Given the description of an element on the screen output the (x, y) to click on. 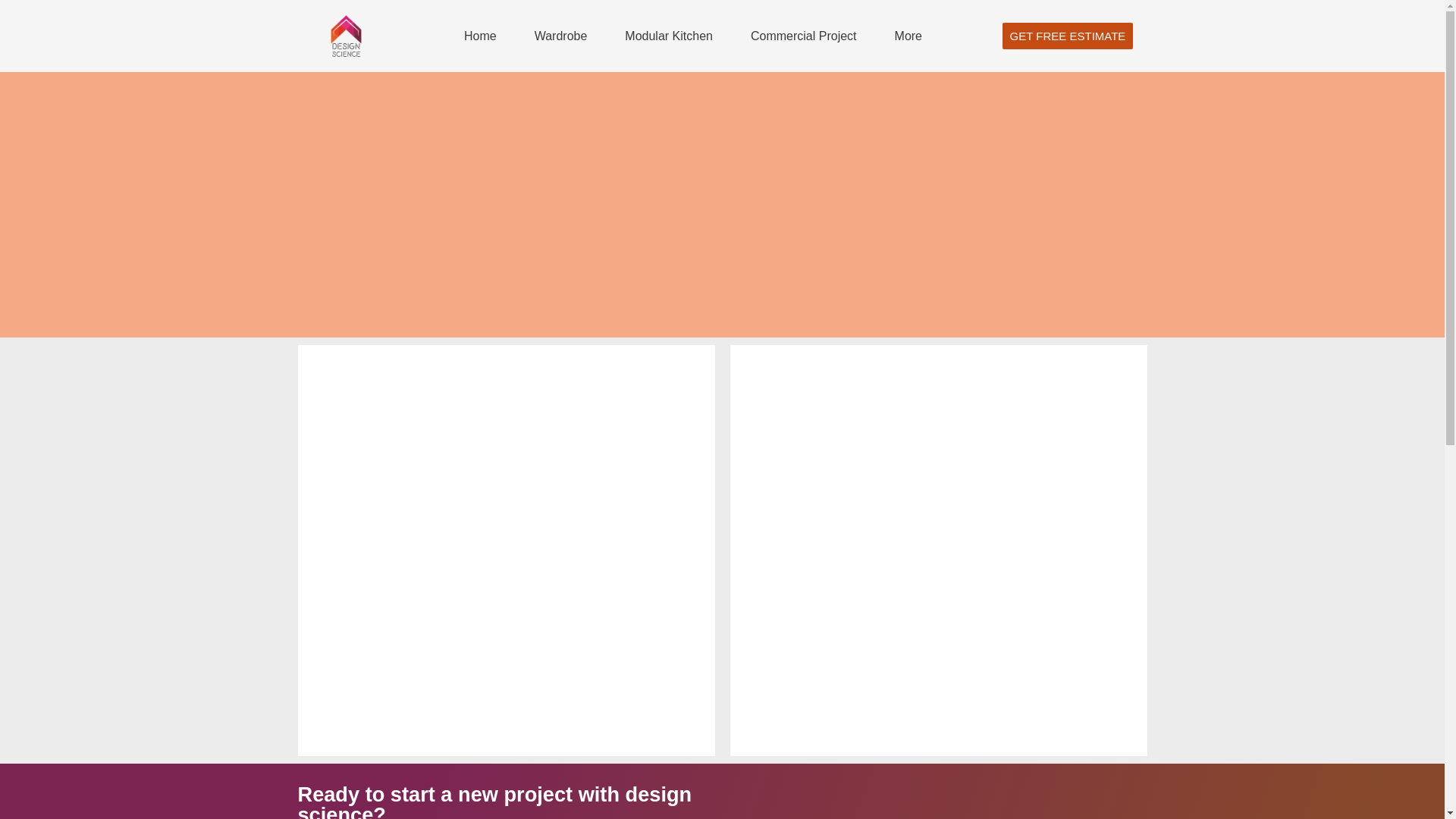
Home (480, 35)
Wardrobe (560, 35)
More (908, 35)
Commercial Project (803, 35)
GET FREE ESTIMATE (1068, 35)
Modular Kitchen (669, 35)
